Given the description of an element on the screen output the (x, y) to click on. 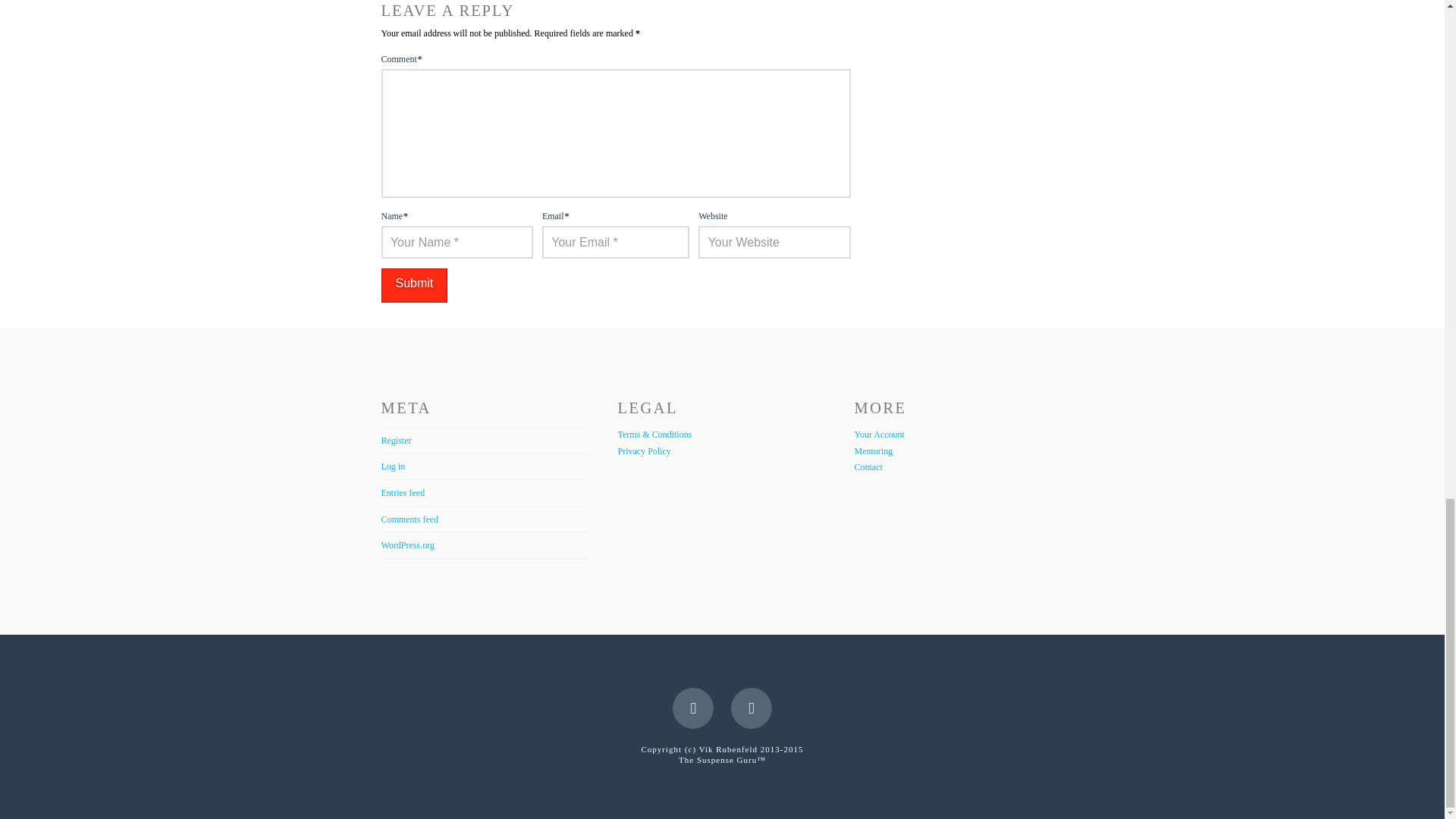
Twitter (750, 707)
Facebook (692, 707)
Submit (413, 285)
